Given the description of an element on the screen output the (x, y) to click on. 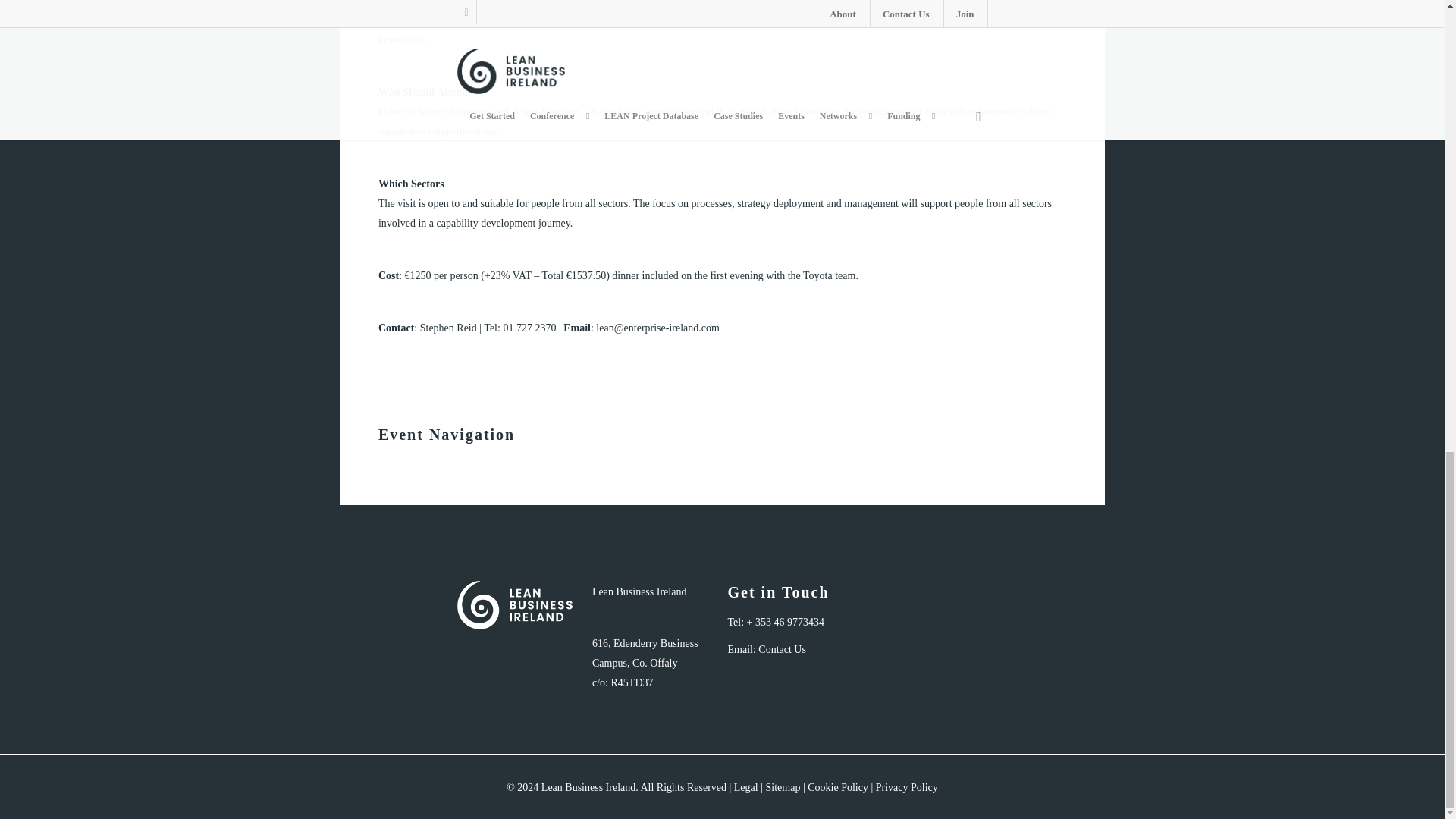
Sitemap (782, 787)
Contact Us (782, 649)
Privacy Policy (906, 787)
Cookie Policy (837, 787)
Legal (745, 787)
